Given the description of an element on the screen output the (x, y) to click on. 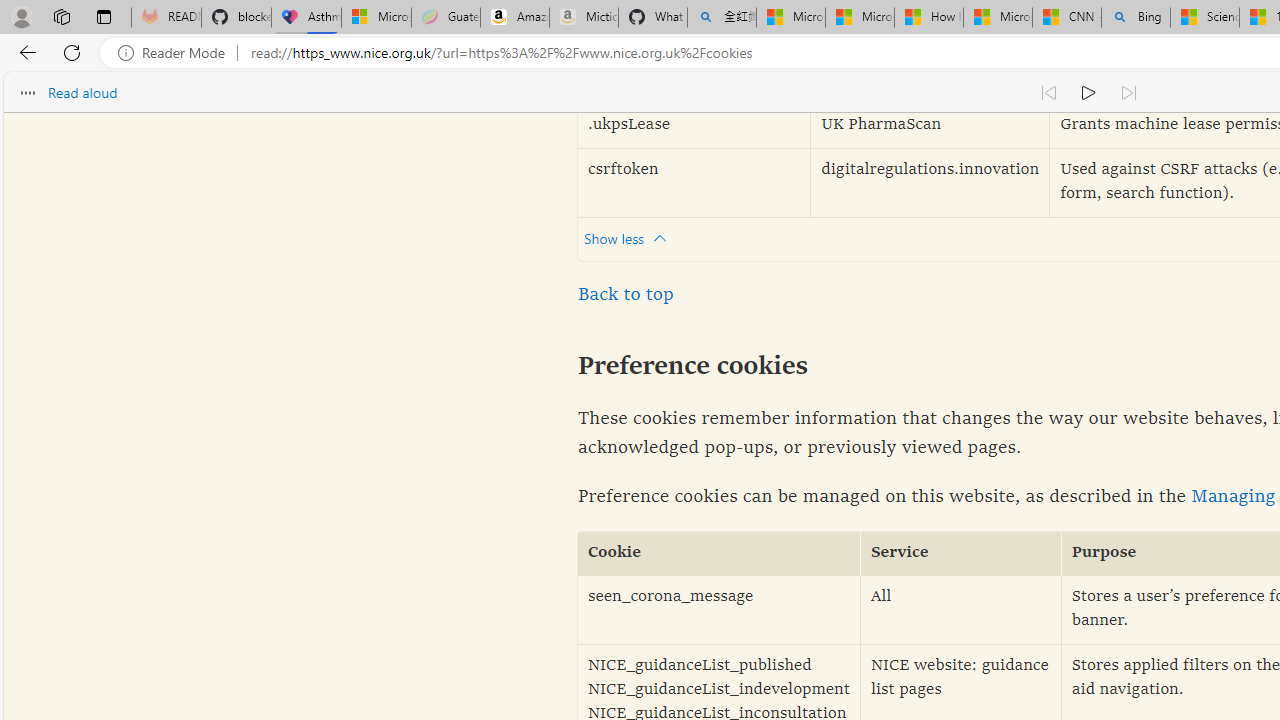
Microsoft-Report a Concern to Bing (375, 17)
Read previous paragraph (1048, 92)
CNN - MSN (1066, 17)
Class: __reading_mode_collapse_button_chevron_up (660, 238)
Read next paragraph (1128, 92)
Service (961, 554)
Continue to read aloud (Ctrl+Shift+U) (1088, 92)
All (961, 610)
Reader Mode (177, 53)
How I Got Rid of Microsoft Edge's Unnecessary Features (928, 17)
